Given the description of an element on the screen output the (x, y) to click on. 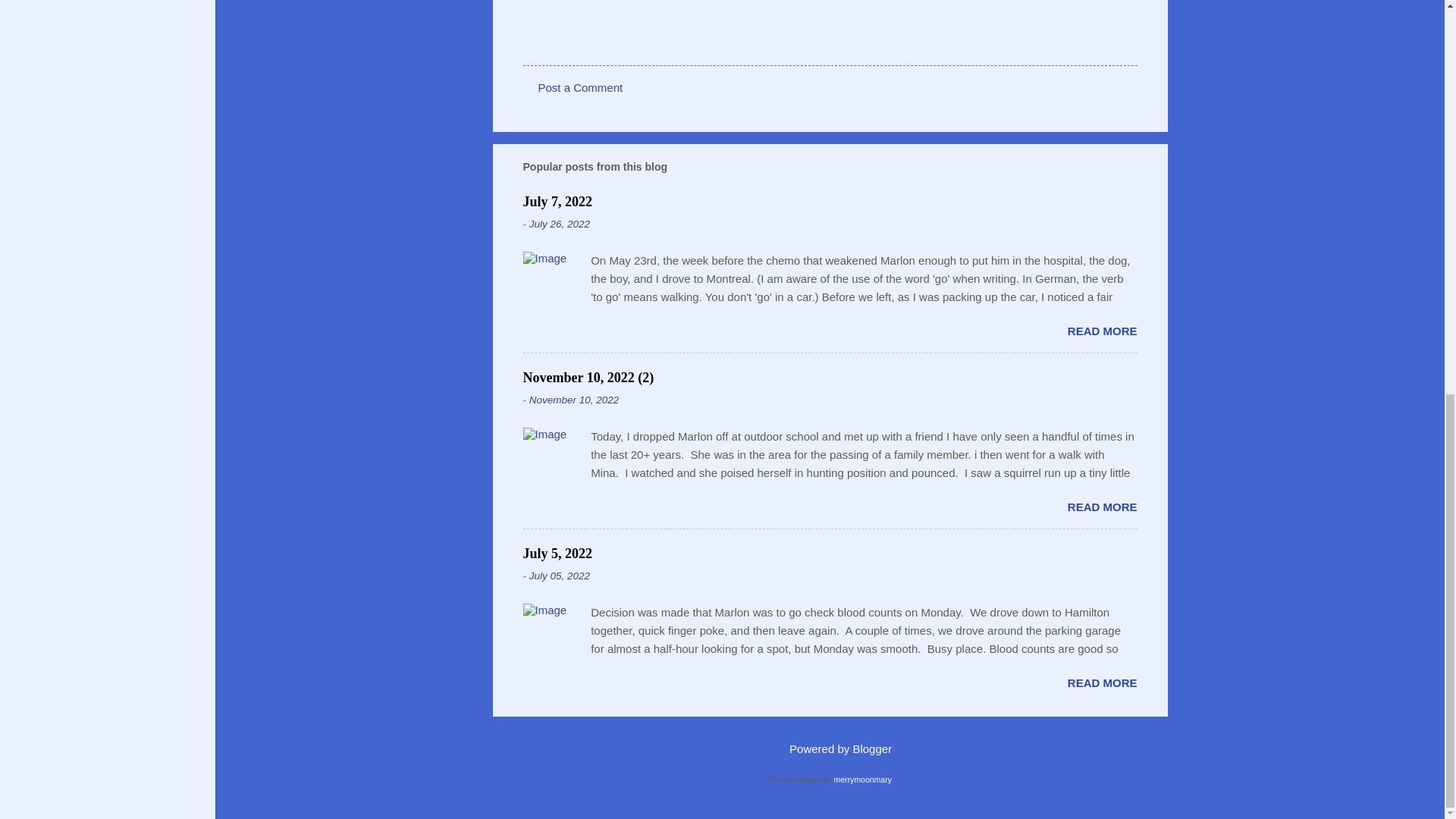
Post a Comment (580, 87)
July 5, 2022 (557, 553)
merrymoonmary (861, 778)
READ MORE (1102, 682)
November 10, 2022 (574, 399)
Powered by Blogger (829, 748)
Email Post (562, 37)
July 05, 2022 (559, 575)
July 26, 2022 (559, 224)
July 7, 2022 (557, 201)
